Given the description of an element on the screen output the (x, y) to click on. 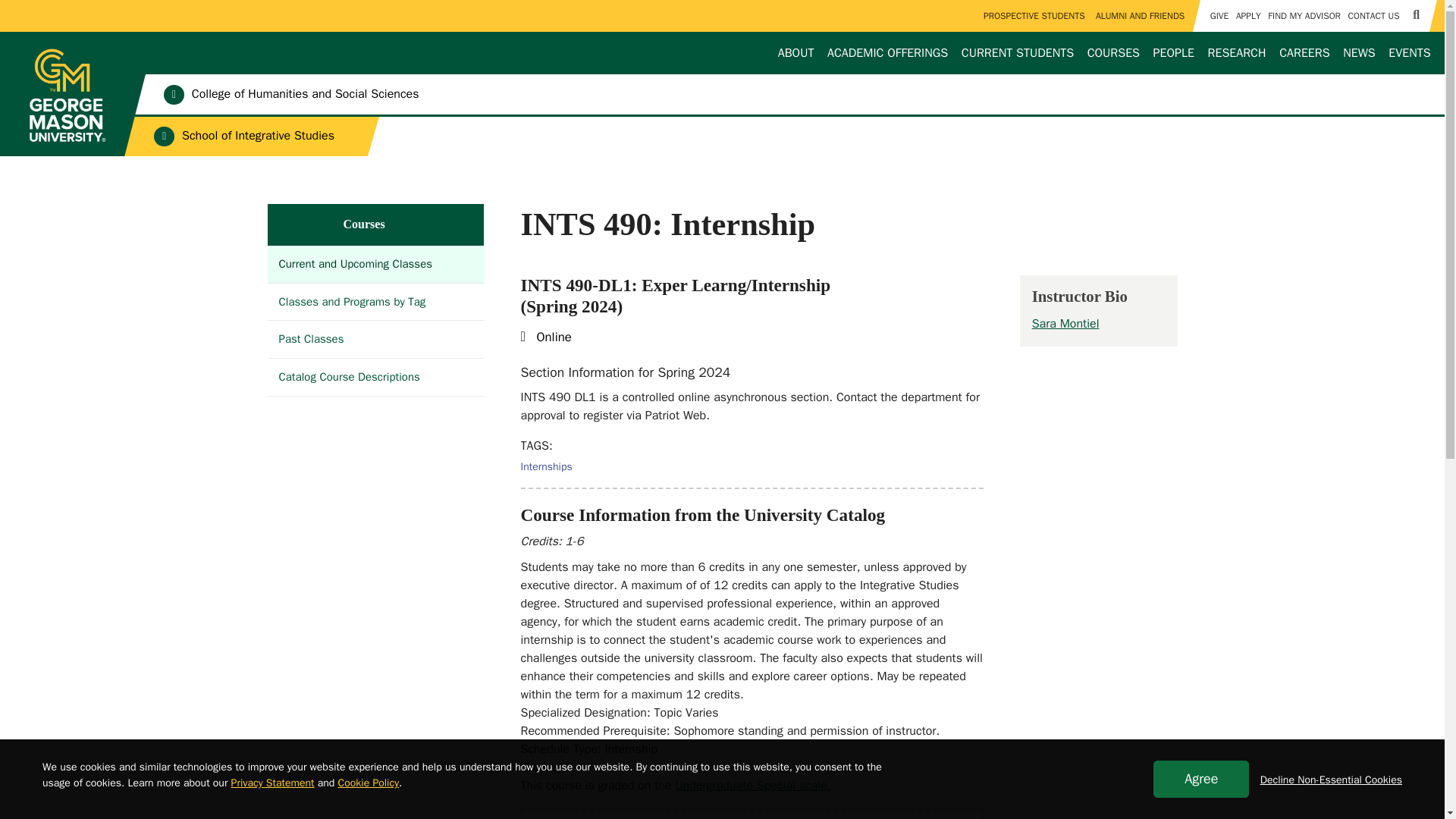
Academic Offerings (887, 52)
George Mason University Cookie Policy (367, 782)
CURRENT STUDENTS (1017, 52)
About (795, 52)
CONTACT US (1373, 15)
Careers (1305, 52)
Current Students (1017, 52)
APPLY (1247, 15)
Decline Non-Essential Cookies (1331, 779)
PROSPECTIVE STUDENTS (1033, 15)
George Mason University Privacy Statement (272, 782)
News (1359, 52)
ACADEMIC OFFERINGS (887, 52)
Courses (1112, 52)
Privacy Statement (272, 782)
